Given the description of an element on the screen output the (x, y) to click on. 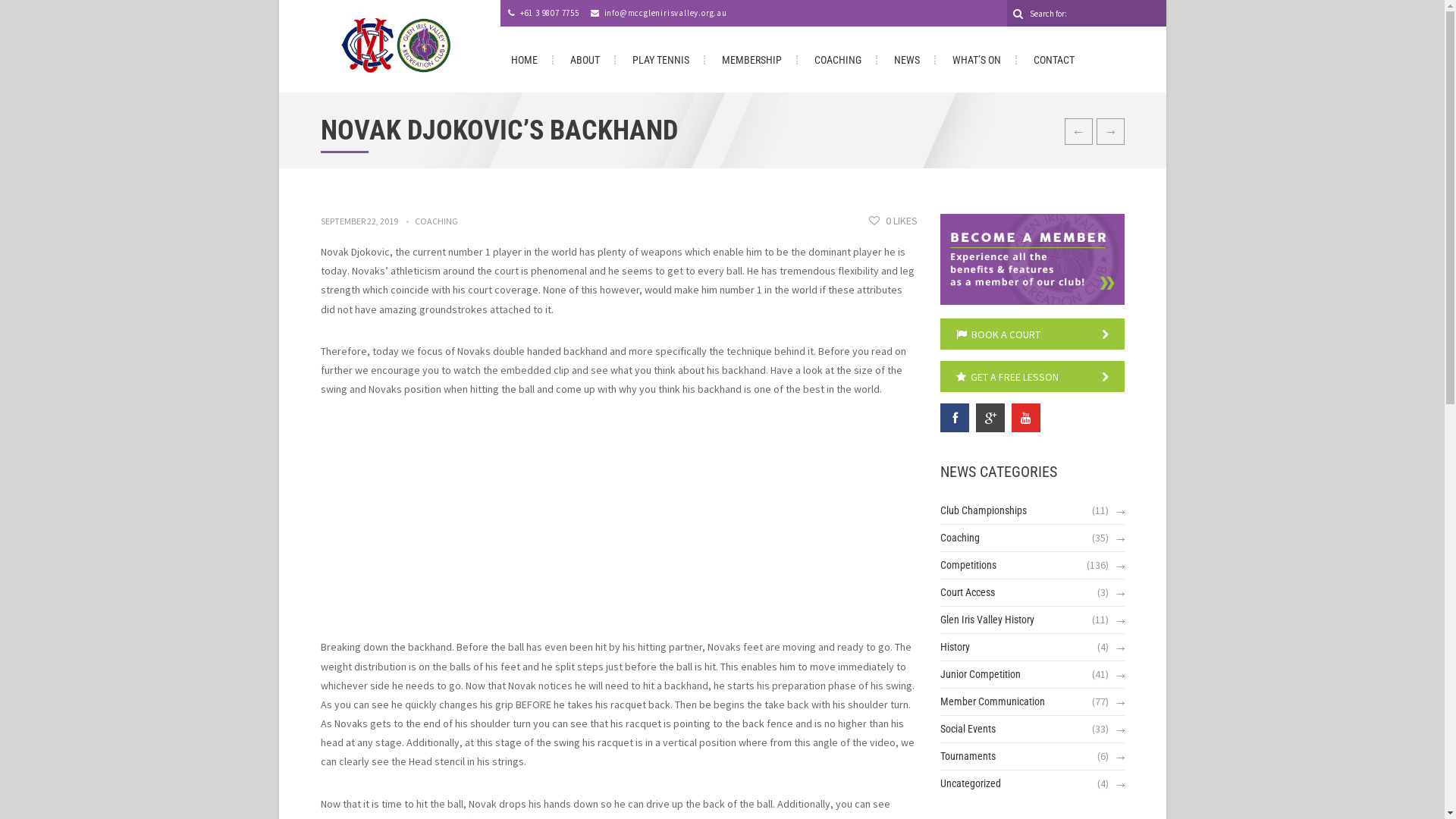
PLAY TENNIS Element type: text (660, 59)
COACHING Element type: text (837, 59)
NEWS Element type: text (906, 59)
Social Events Element type: text (967, 728)
Member Communication Element type: text (992, 701)
Court Access Element type: text (967, 592)
Glen Iris Valley History Element type: text (987, 619)
Junior Competition Element type: text (980, 674)
Club Championships Element type: text (983, 510)
  BOOK A COURT Element type: text (1032, 333)
  GET A FREE LESSON Element type: text (1032, 376)
Coaching Element type: text (959, 537)
ABOUT Element type: text (584, 59)
Competitions Element type: text (968, 565)
COACHING Element type: text (435, 220)
MEMBERSHIP Element type: text (751, 59)
CONTACT Element type: text (1053, 59)
Uncategorized Element type: text (970, 783)
0 LIKES Element type: text (893, 220)
Tournaments Element type: text (967, 756)
HOME Element type: text (524, 59)
History Element type: text (954, 646)
